Given the description of an element on the screen output the (x, y) to click on. 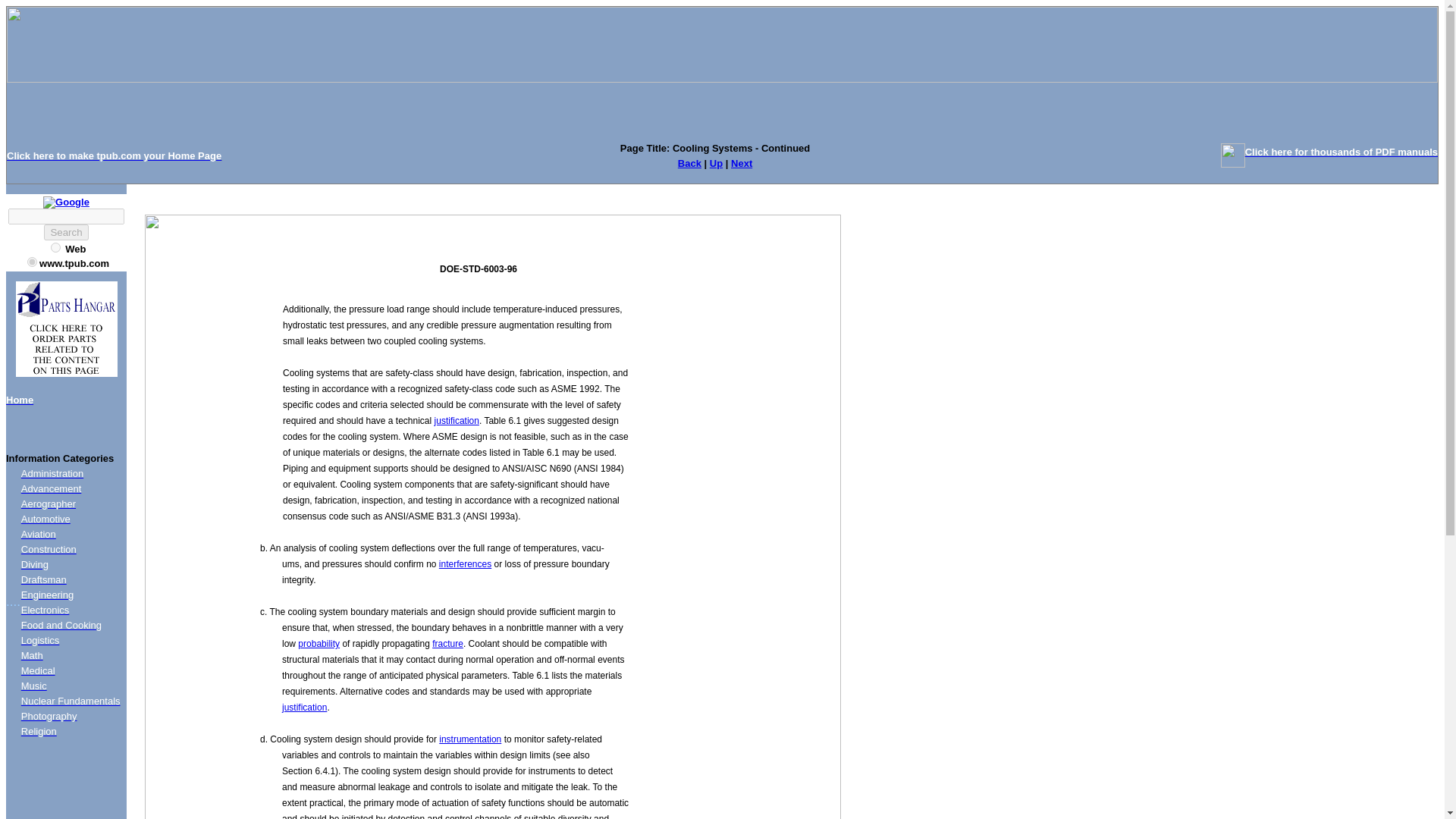
Math (32, 655)
Medical (38, 670)
Food and Cooking (61, 624)
Aerographer (48, 503)
Religion (38, 731)
Back (689, 163)
Search (65, 232)
Engineering (47, 594)
Logistics (40, 640)
Administration (51, 473)
